Given the description of an element on the screen output the (x, y) to click on. 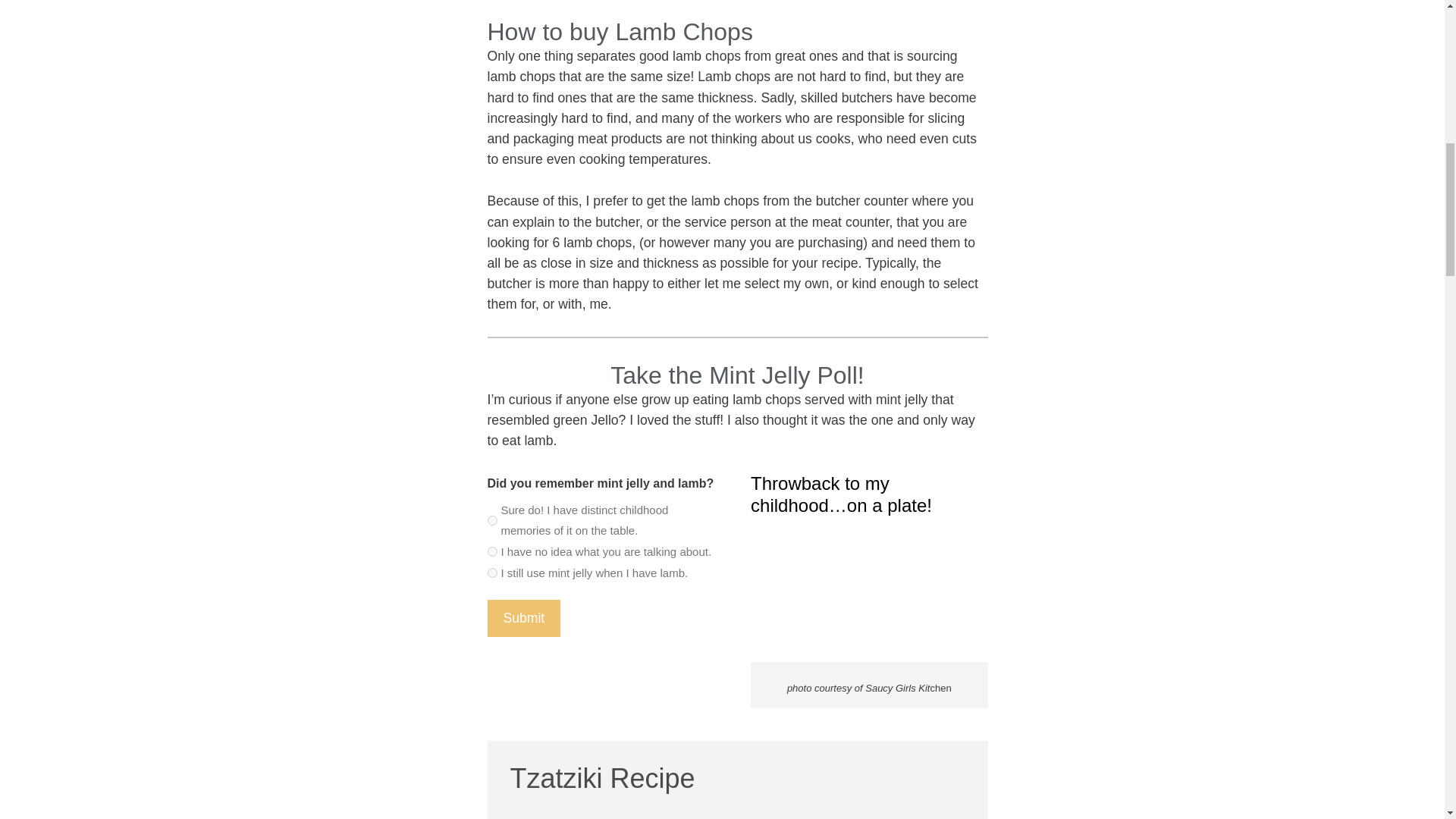
Submit (523, 617)
I have no idea what you are talking about. (491, 551)
I still use mint jelly when I have lamb. (491, 573)
